Given the description of an element on the screen output the (x, y) to click on. 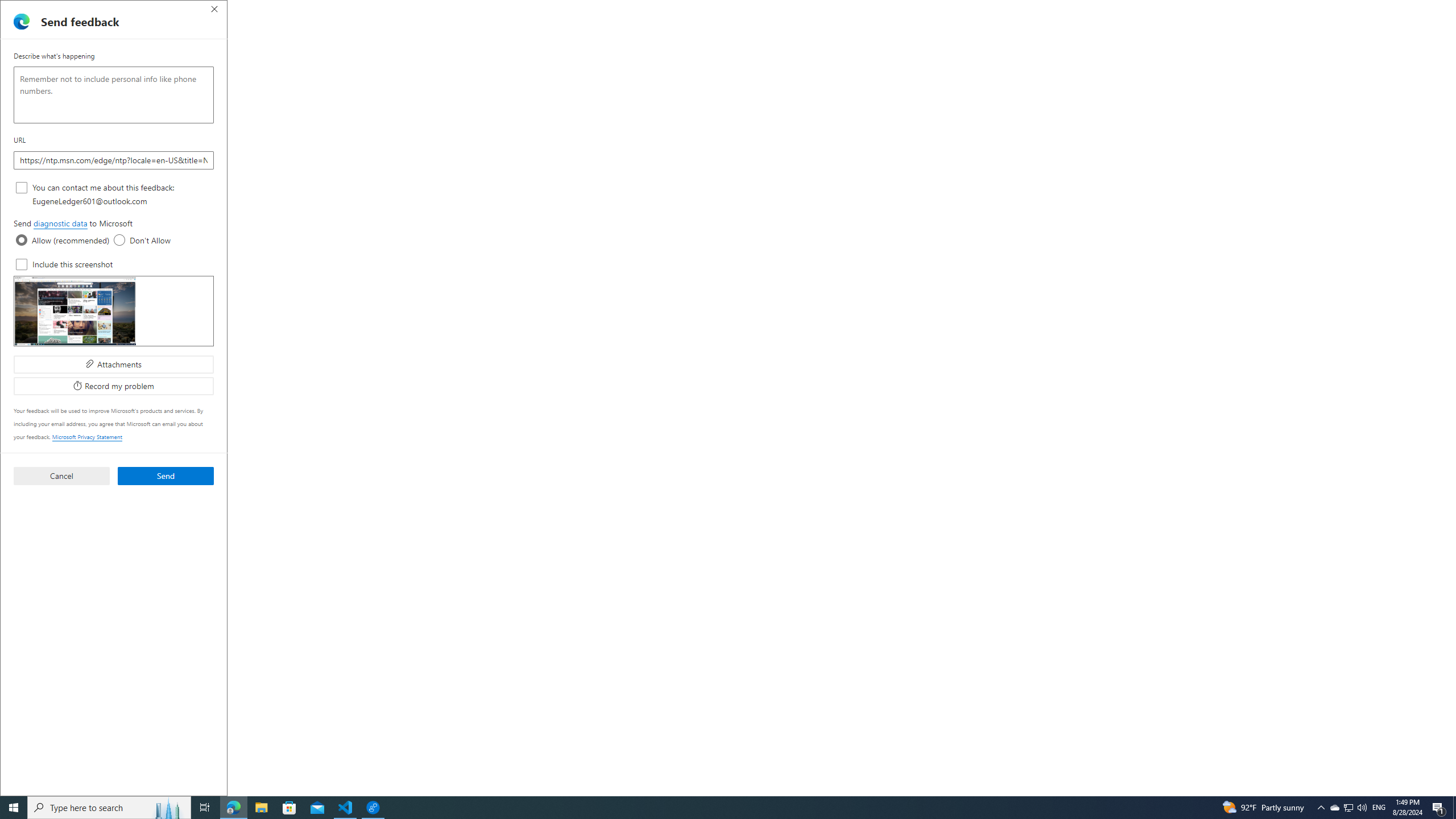
Privacy settings (576, 54)
Productivity and communications products (356, 623)
Nordace - My Account (1032, 9)
Close tab (949, 9)
Address and search bar (669, 29)
Privacy (386, 56)
Privacy report (514, 54)
Microsoft Start - Sleeping (379, 9)
Microsoft account (883, 537)
Close (1442, 9)
New tab - Sleeping (296, 9)
